Given the description of an element on the screen output the (x, y) to click on. 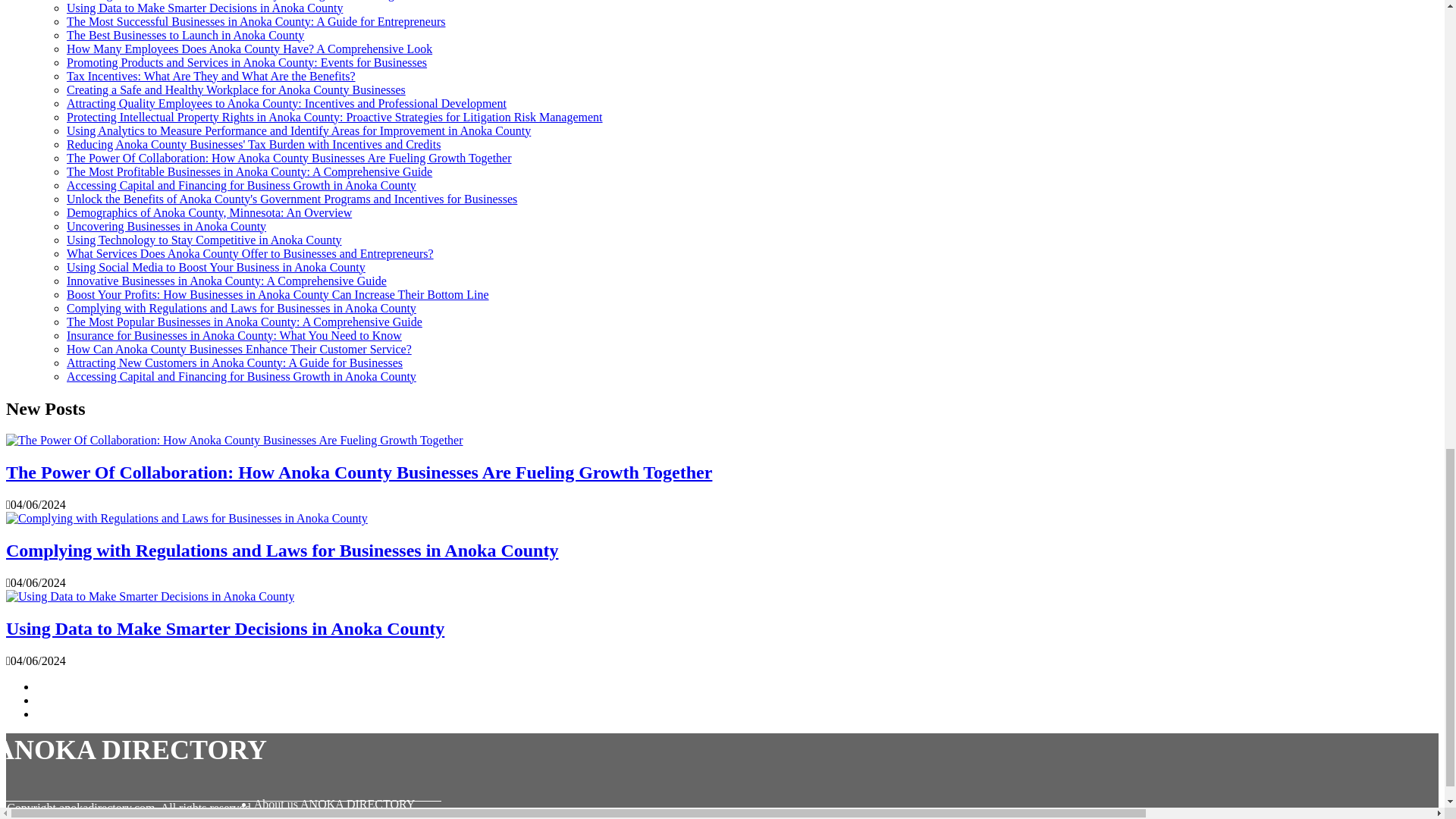
Tax Incentives: What Are They and What Are the Benefits? (210, 75)
The Best Businesses to Launch in Anoka County (185, 34)
Using Data to Make Smarter Decisions in Anoka County (204, 7)
